Given the description of an element on the screen output the (x, y) to click on. 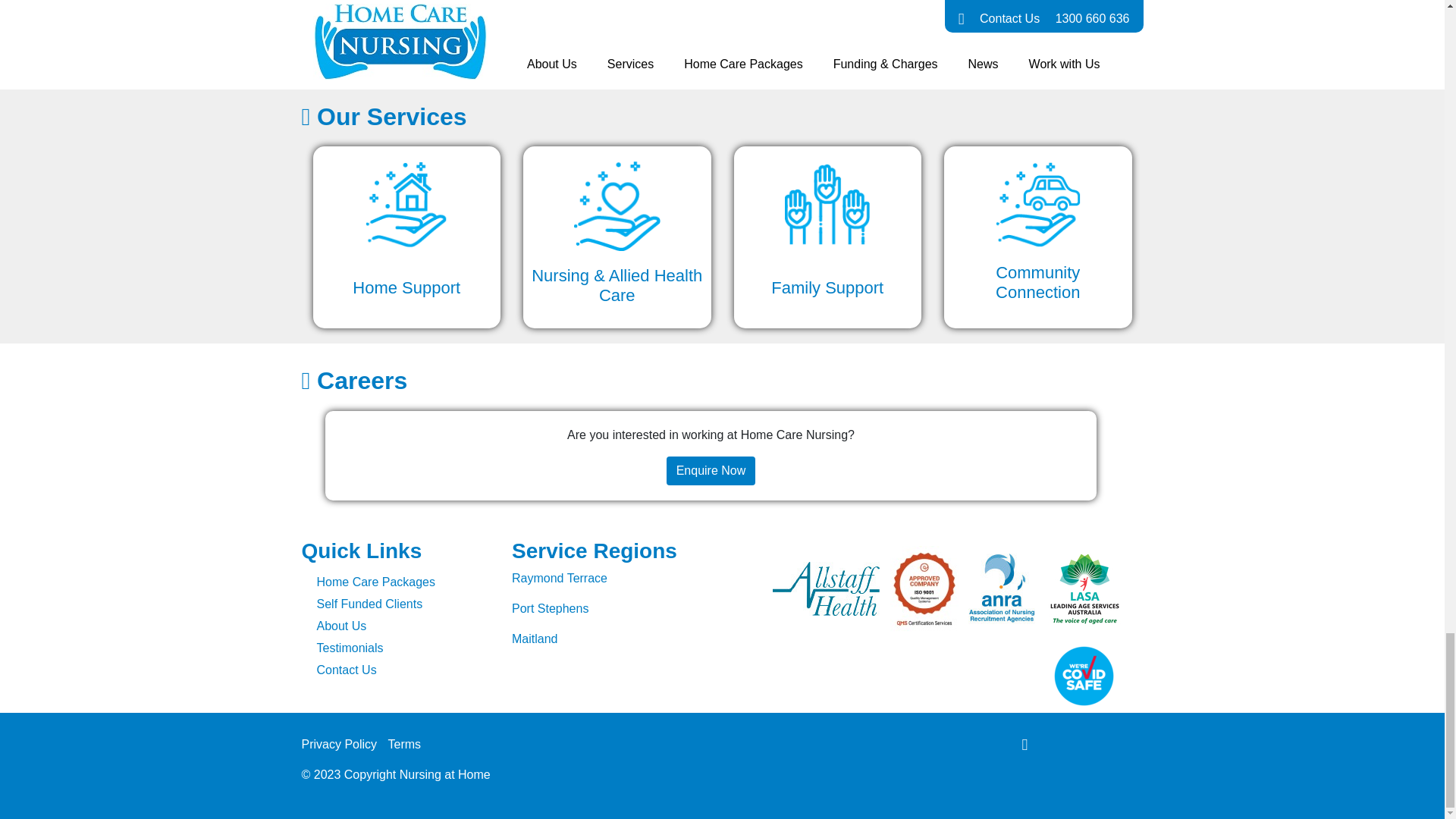
Testimonials (403, 648)
Terms (408, 744)
Self Funded Clients (403, 604)
About Us (403, 626)
Home Support (406, 237)
Home Care Packages (403, 582)
Self Funded Clients (403, 604)
Family Support (827, 237)
Enquire Now (710, 469)
Home Care Packages (403, 582)
Contact Us (403, 669)
Community Connection (1037, 237)
Maitland (534, 638)
Terms (408, 744)
Contact Us (403, 669)
